Given the description of an element on the screen output the (x, y) to click on. 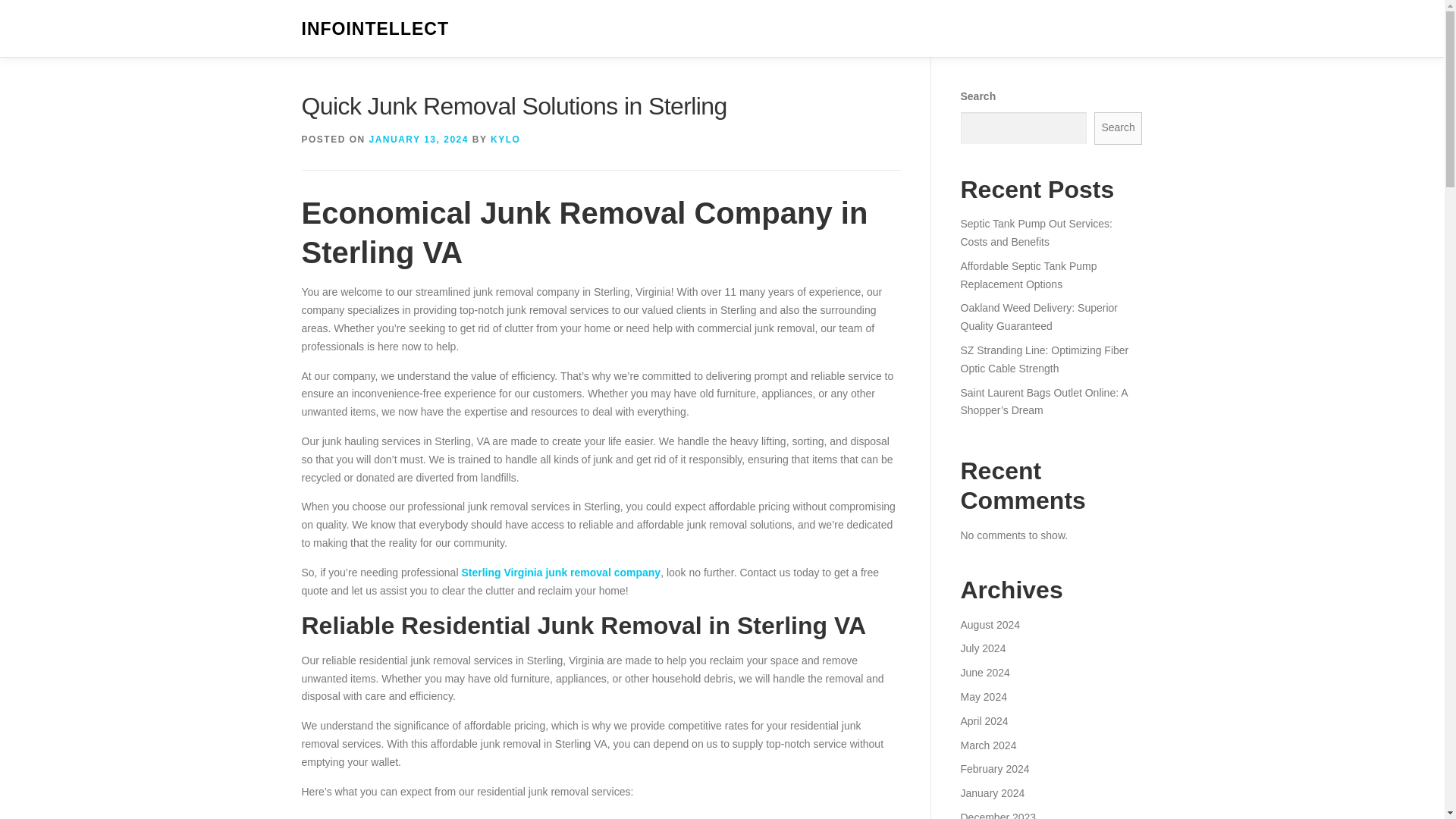
March 2024 (987, 744)
KYLO (504, 139)
Affordable Septic Tank Pump Replacement Options (1027, 275)
SZ Stranding Line: Optimizing Fiber Optic Cable Strength (1043, 358)
Oakland Weed Delivery: Superior Quality Guaranteed (1038, 317)
JANUARY 13, 2024 (418, 139)
July 2024 (982, 648)
May 2024 (982, 696)
Septic Tank Pump Out Services: Costs and Benefits (1035, 232)
August 2024 (989, 624)
